Given the description of an element on the screen output the (x, y) to click on. 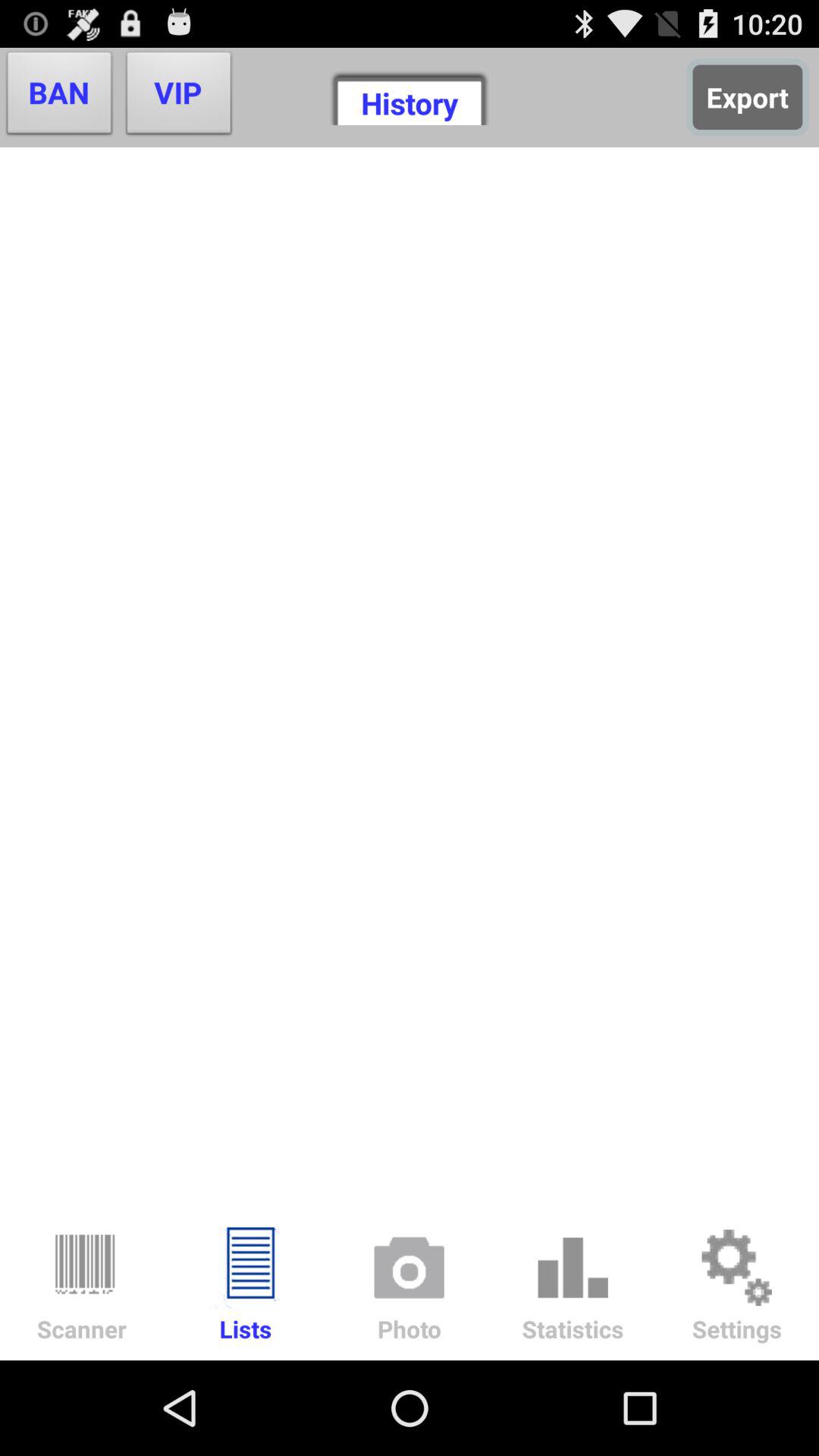
open the icon at the center (409, 677)
